Given the description of an element on the screen output the (x, y) to click on. 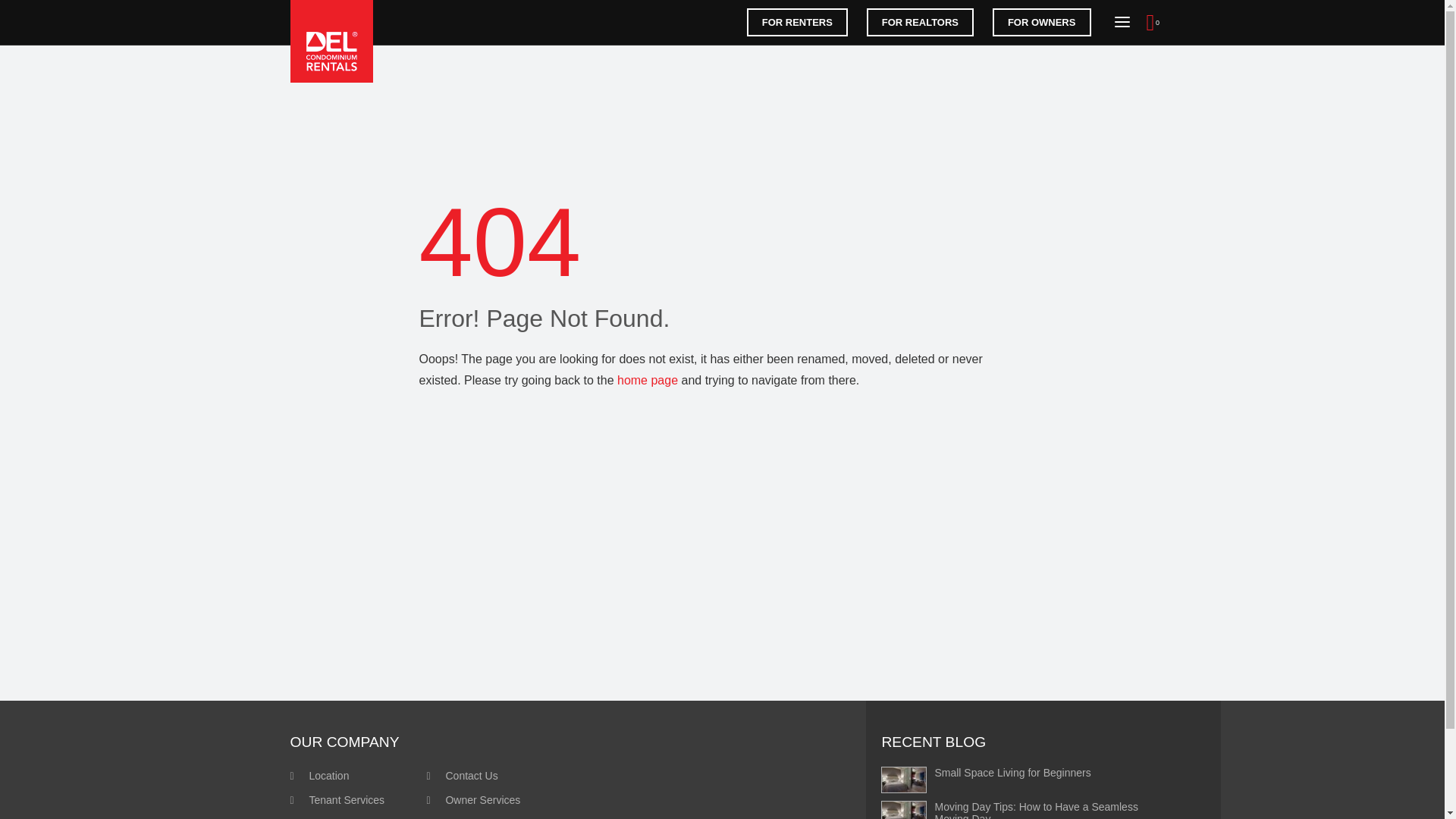
Location (319, 775)
Small Space Living for Beginners (1017, 779)
Contact Us (461, 775)
FOR REALTORS (920, 22)
Menu (1122, 22)
FOR RENTERS (796, 22)
FOR OWNERS (1041, 22)
home page (647, 379)
Tenant Services (336, 799)
Moving Day Tips: How to Have a Seamless Moving Day (1017, 809)
0 (1158, 21)
Owner Services (472, 799)
